Given the description of an element on the screen output the (x, y) to click on. 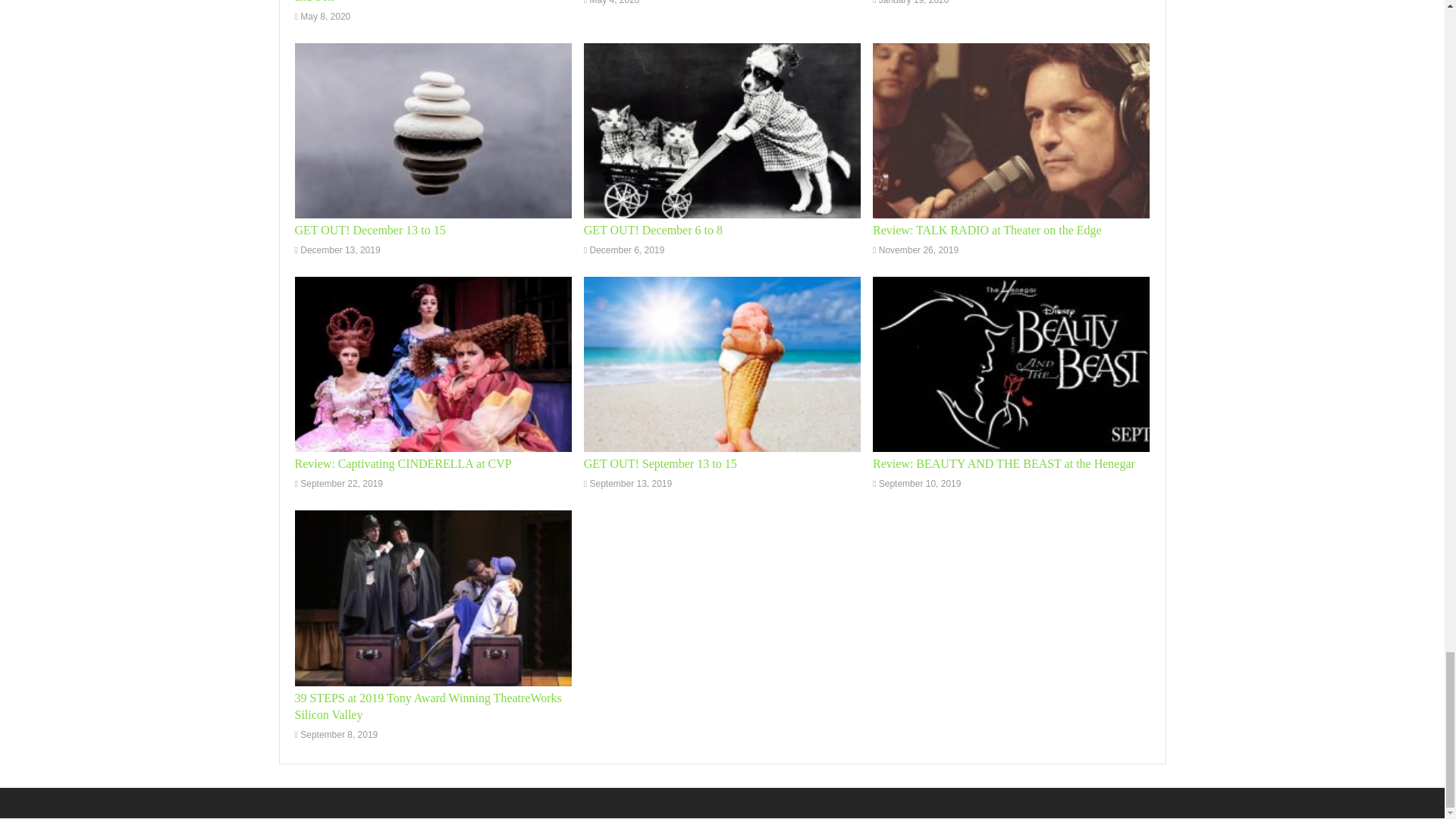
GET OUT! December 13 to 15 (432, 130)
GET OUT! December 13 to 15 (369, 229)
GET OUT! December 6 to 8 (721, 130)
GET OUT! December 6 to 8 (652, 229)
Film Features Area Attorney ALLAN WHITEHEAD and Son (422, 1)
